Given the description of an element on the screen output the (x, y) to click on. 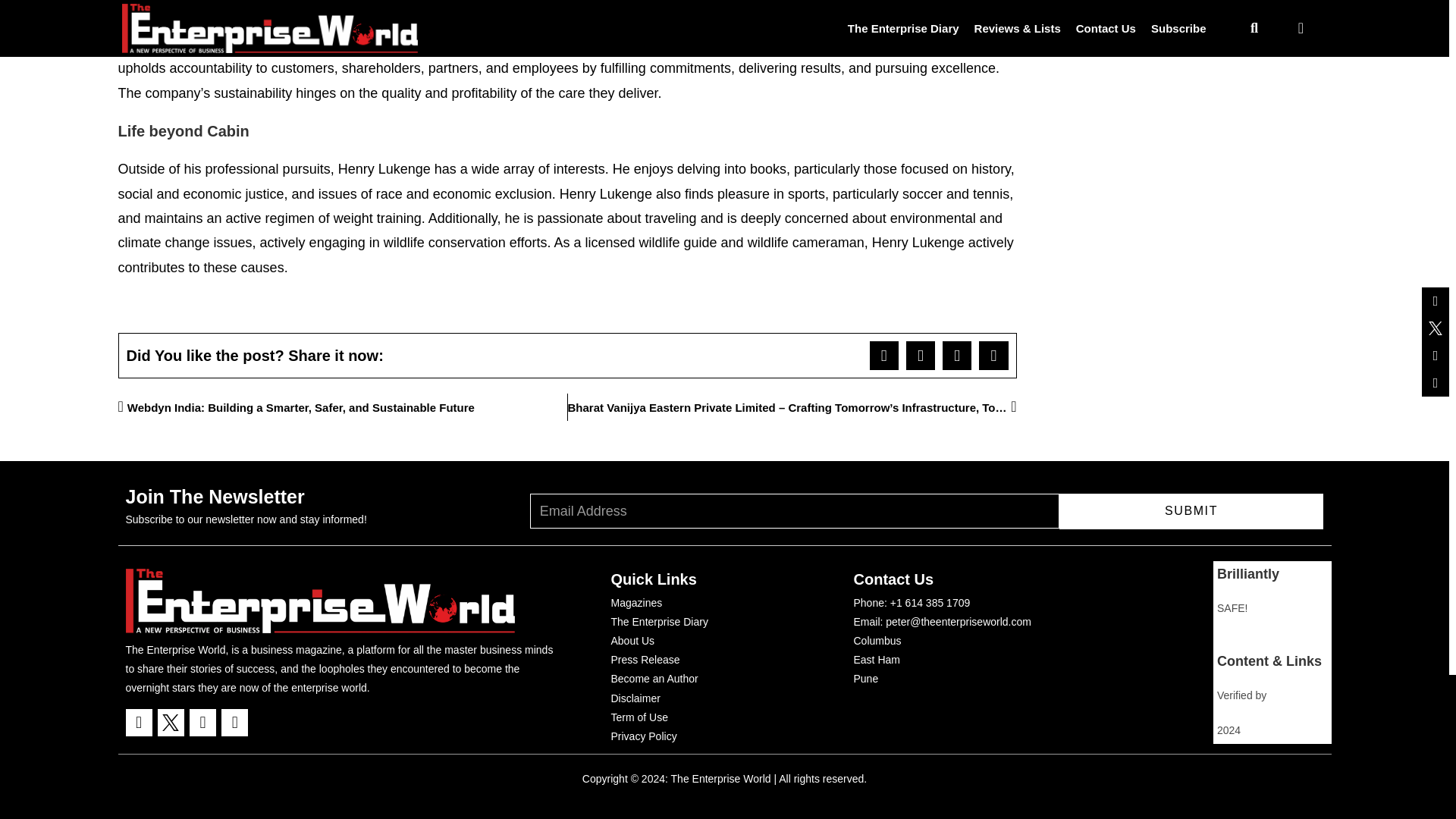
SUBMIT (1191, 511)
risk of failure (618, 19)
